Given the description of an element on the screen output the (x, y) to click on. 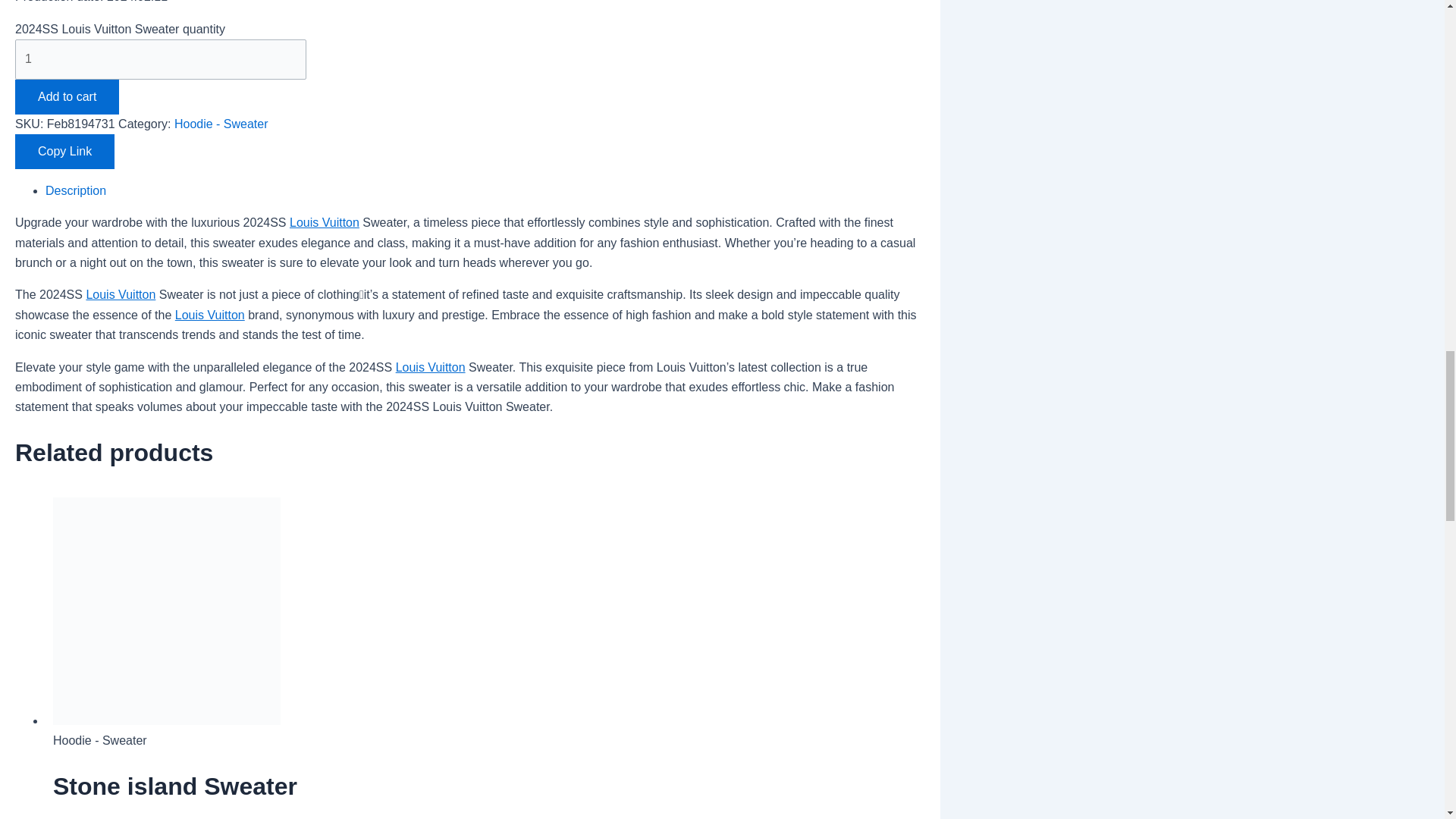
Louis Vuitton (209, 314)
Louis Vuitton (120, 294)
Louis Vuitton (324, 222)
Description (75, 190)
1 (159, 58)
Add to cart (66, 96)
Hoodie - Sweater (220, 123)
Louis Vuitton (120, 294)
Copy Link (64, 151)
